Given the description of an element on the screen output the (x, y) to click on. 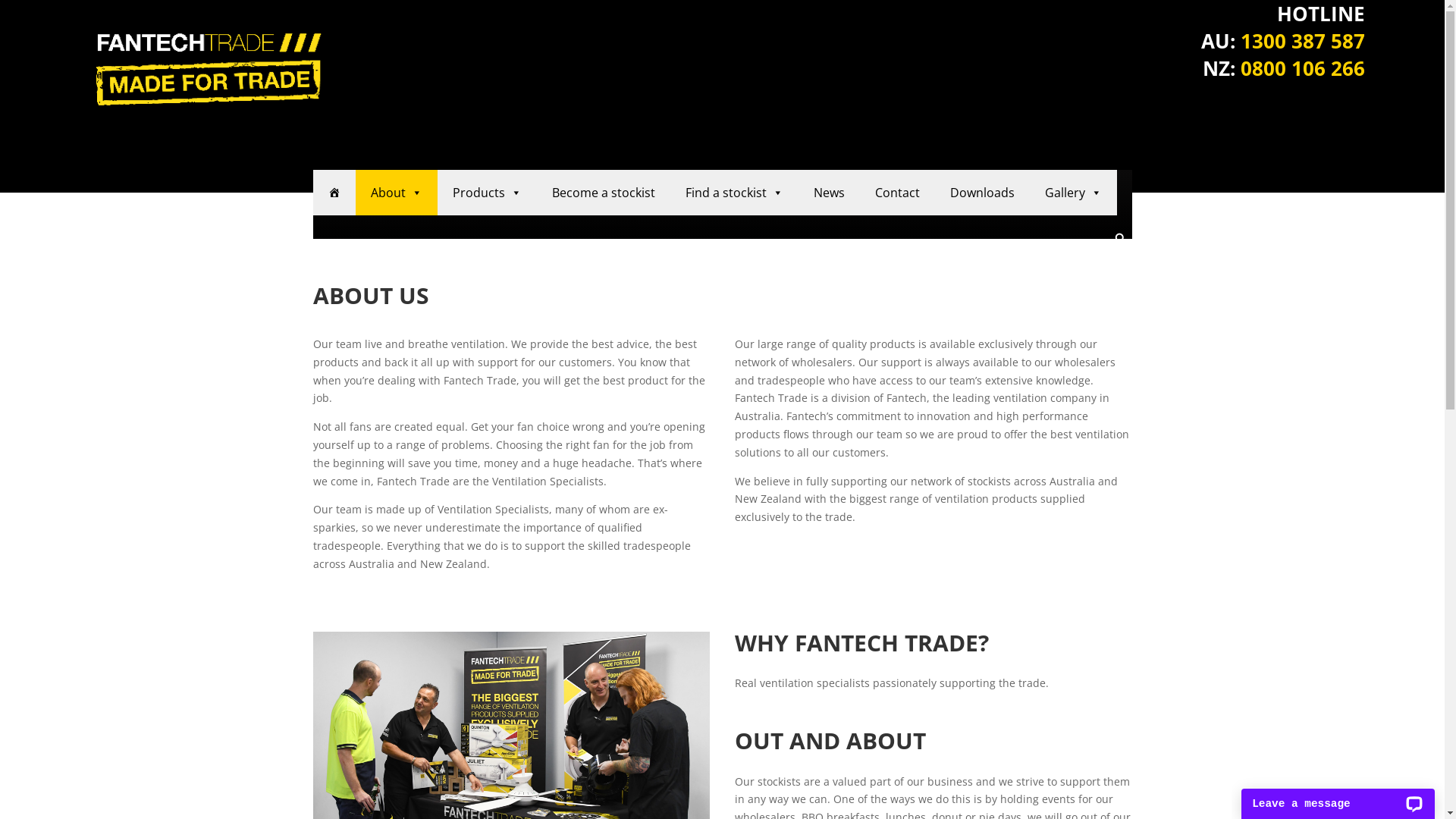
Search Element type: text (1093, 265)
1300 387 587 Element type: text (1302, 40)
Contact Element type: text (897, 192)
News Element type: text (828, 192)
Search Element type: text (11, 9)
Products Element type: text (486, 192)
0800 106 266 Element type: text (1302, 67)
Become a stockist Element type: text (603, 192)
About Element type: text (395, 192)
Downloads Element type: text (981, 192)
Gallery Element type: text (1073, 192)
Find a stockist Element type: text (734, 192)
